Given the description of an element on the screen output the (x, y) to click on. 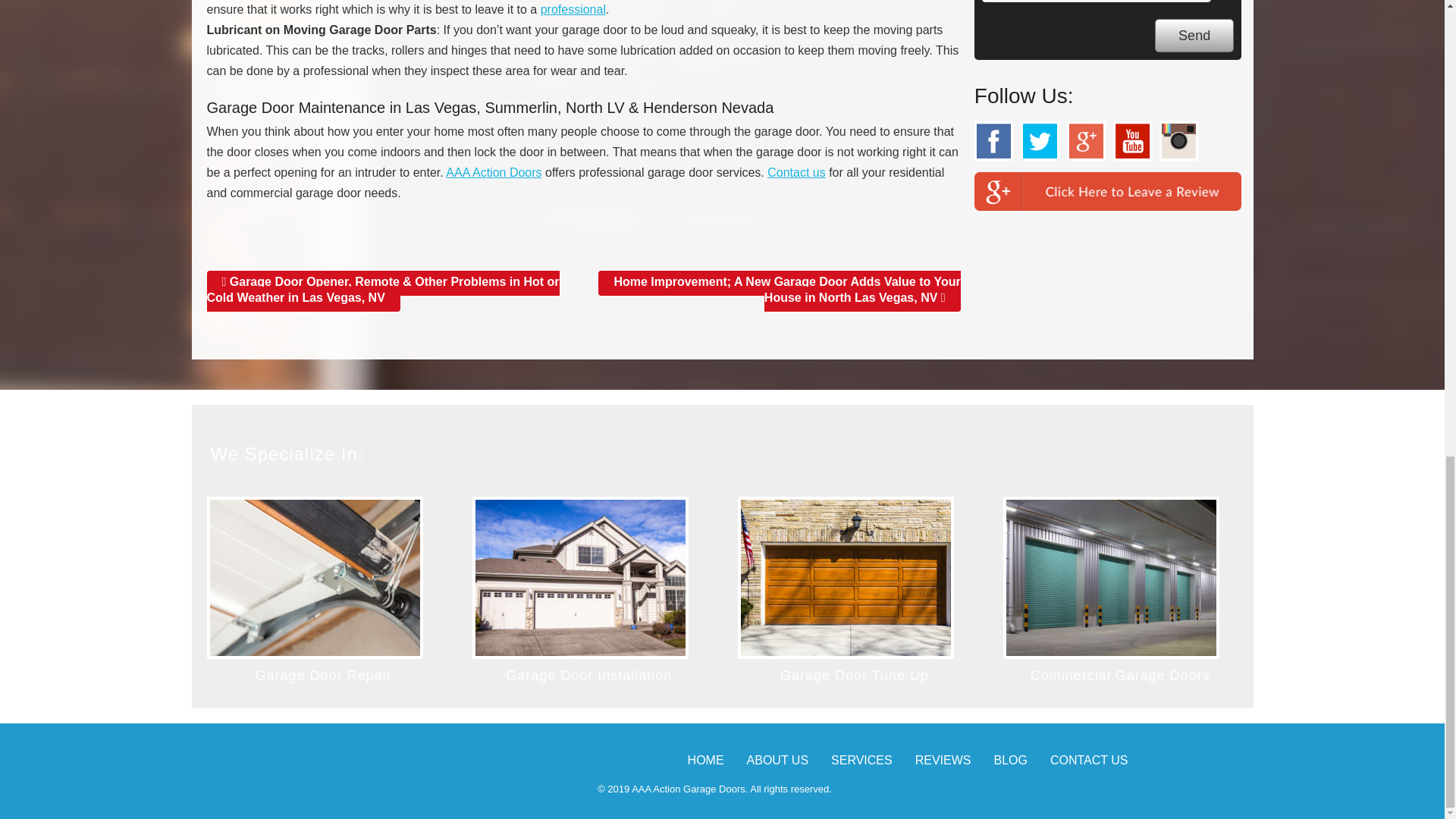
Send (1193, 35)
Send (1193, 35)
professional (572, 9)
Contact us (796, 172)
AAA Action Doors (493, 172)
